Given the description of an element on the screen output the (x, y) to click on. 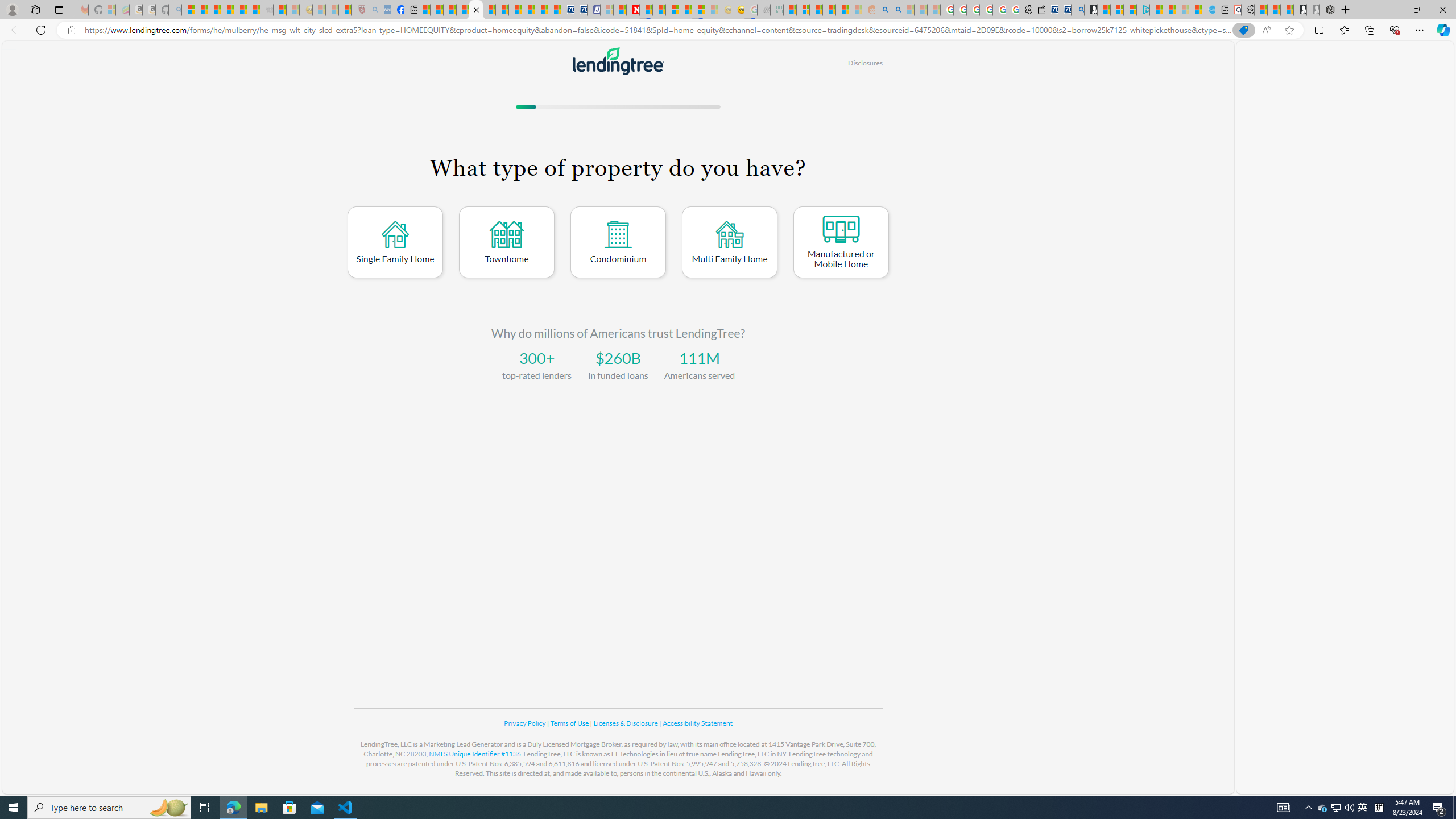
Disclosures (864, 62)
Terms of Use  (569, 723)
Utah sues federal government - Search (894, 9)
Bing Real Estate - Home sales and rental listings (1077, 9)
Cheap Hotels - Save70.com (580, 9)
The Weather Channel - MSN (213, 9)
